Given the description of an element on the screen output the (x, y) to click on. 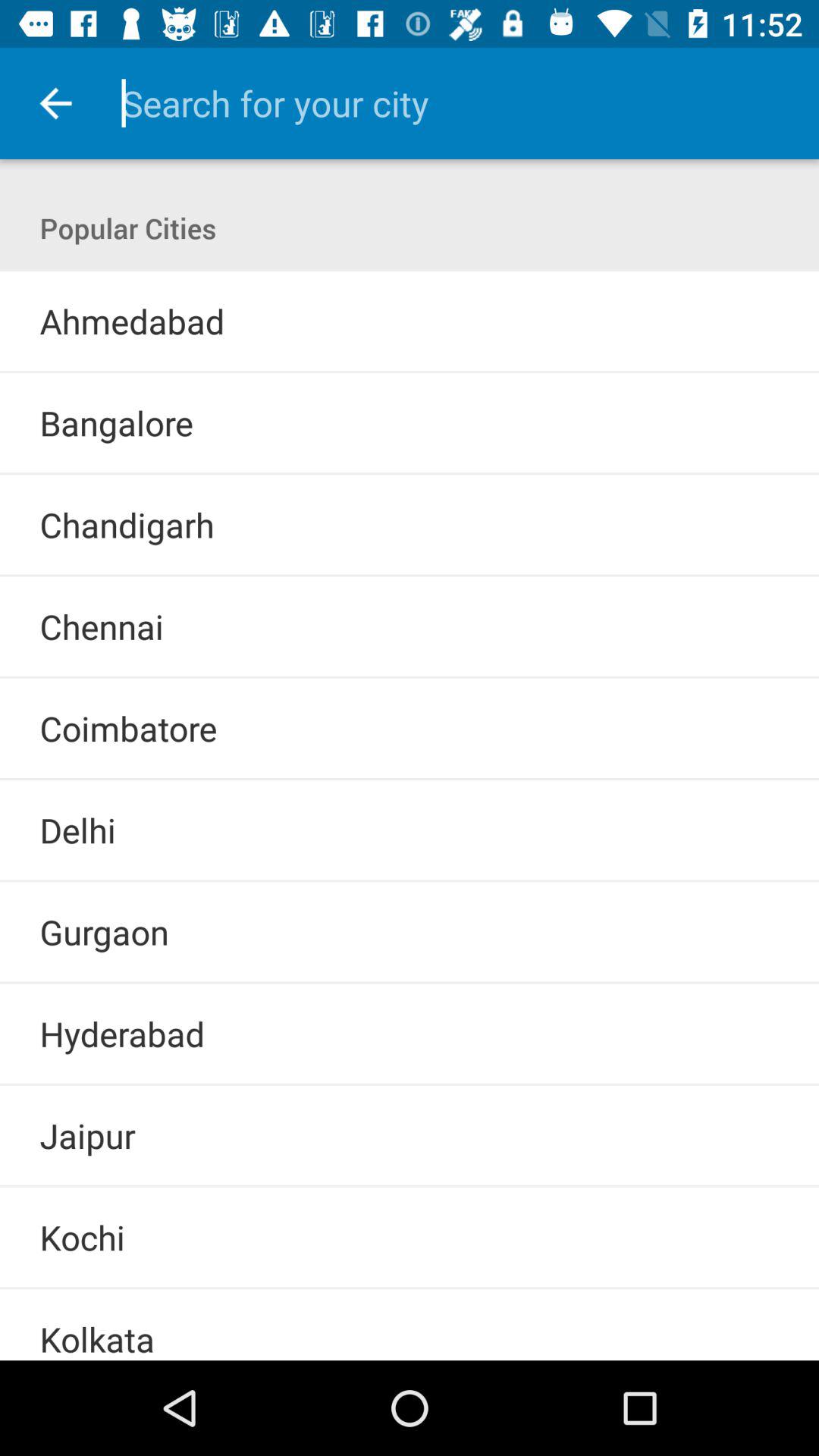
turn on item above the chennai icon (409, 575)
